Given the description of an element on the screen output the (x, y) to click on. 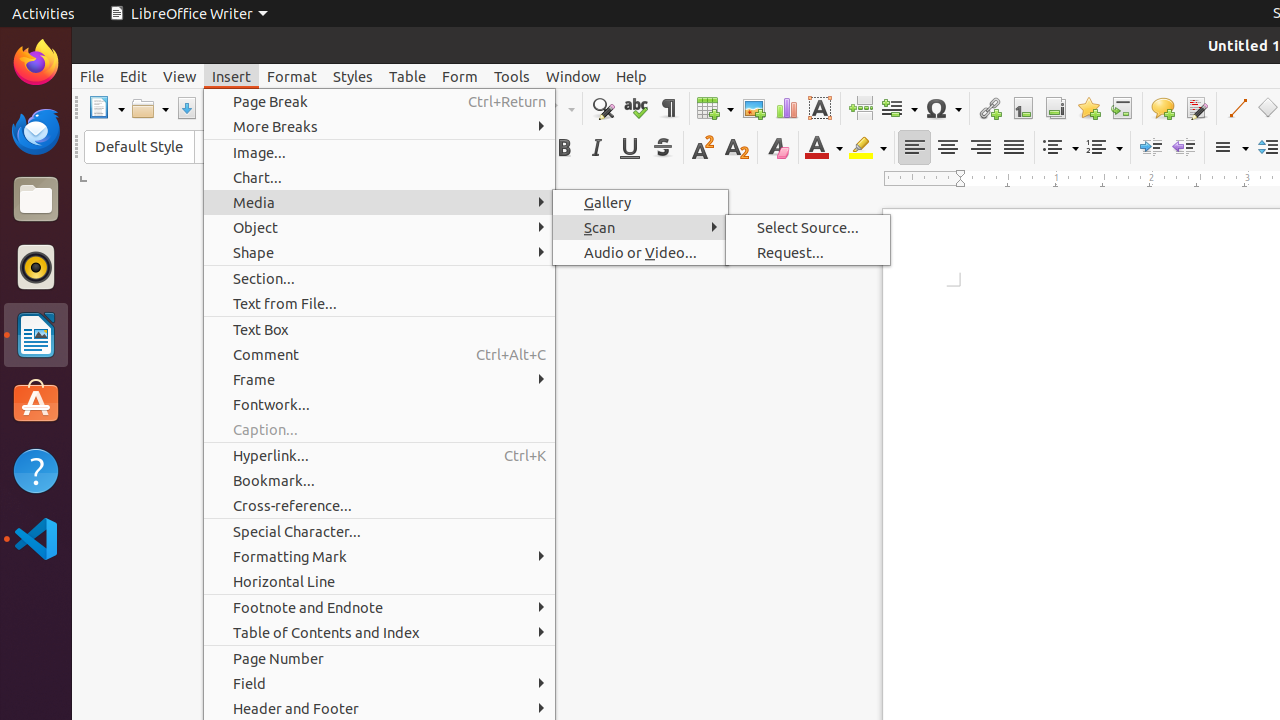
Strikethrough Element type: toggle-button (662, 147)
Section... Element type: menu-item (379, 278)
Insert Element type: menu (231, 76)
More Breaks Element type: menu (379, 126)
Format Element type: menu (292, 76)
